Given the description of an element on the screen output the (x, y) to click on. 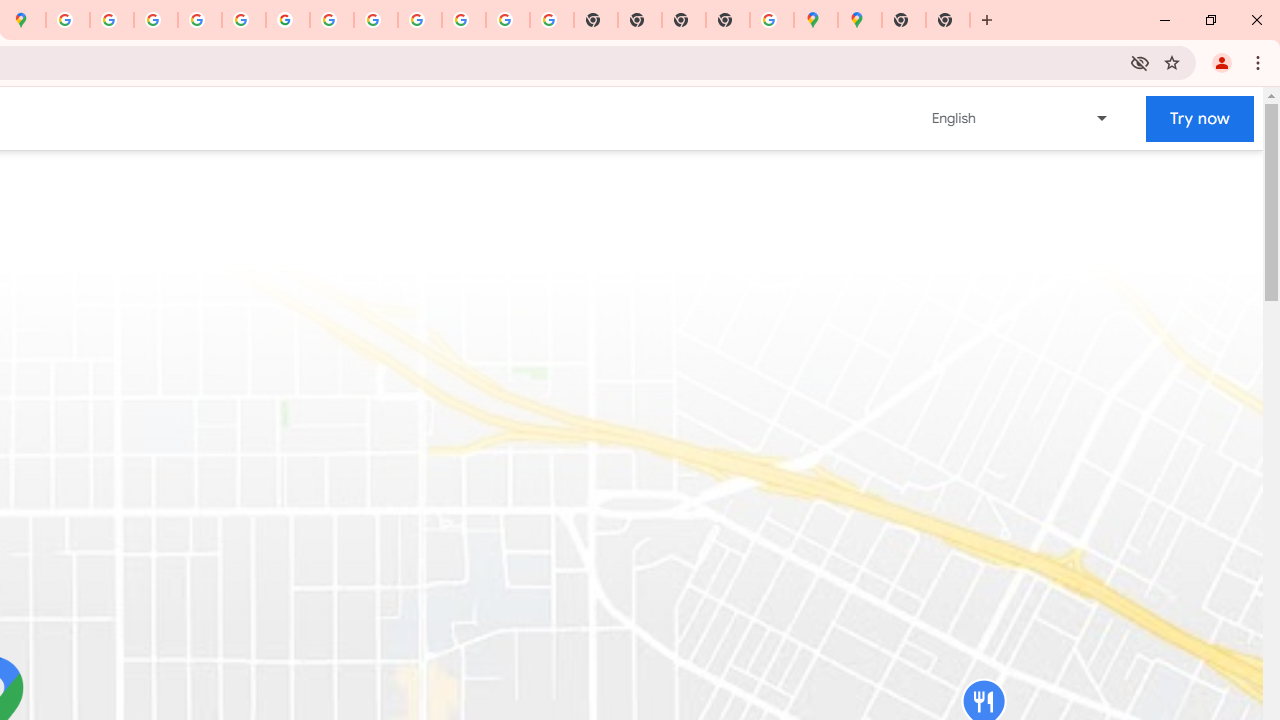
Privacy Help Center - Policies Help (199, 20)
Use Google Maps in Space - Google Maps Help (771, 20)
New Tab (903, 20)
Privacy Help Center - Policies Help (155, 20)
New Tab (728, 20)
Google Maps (859, 20)
Try now (1199, 118)
